Given the description of an element on the screen output the (x, y) to click on. 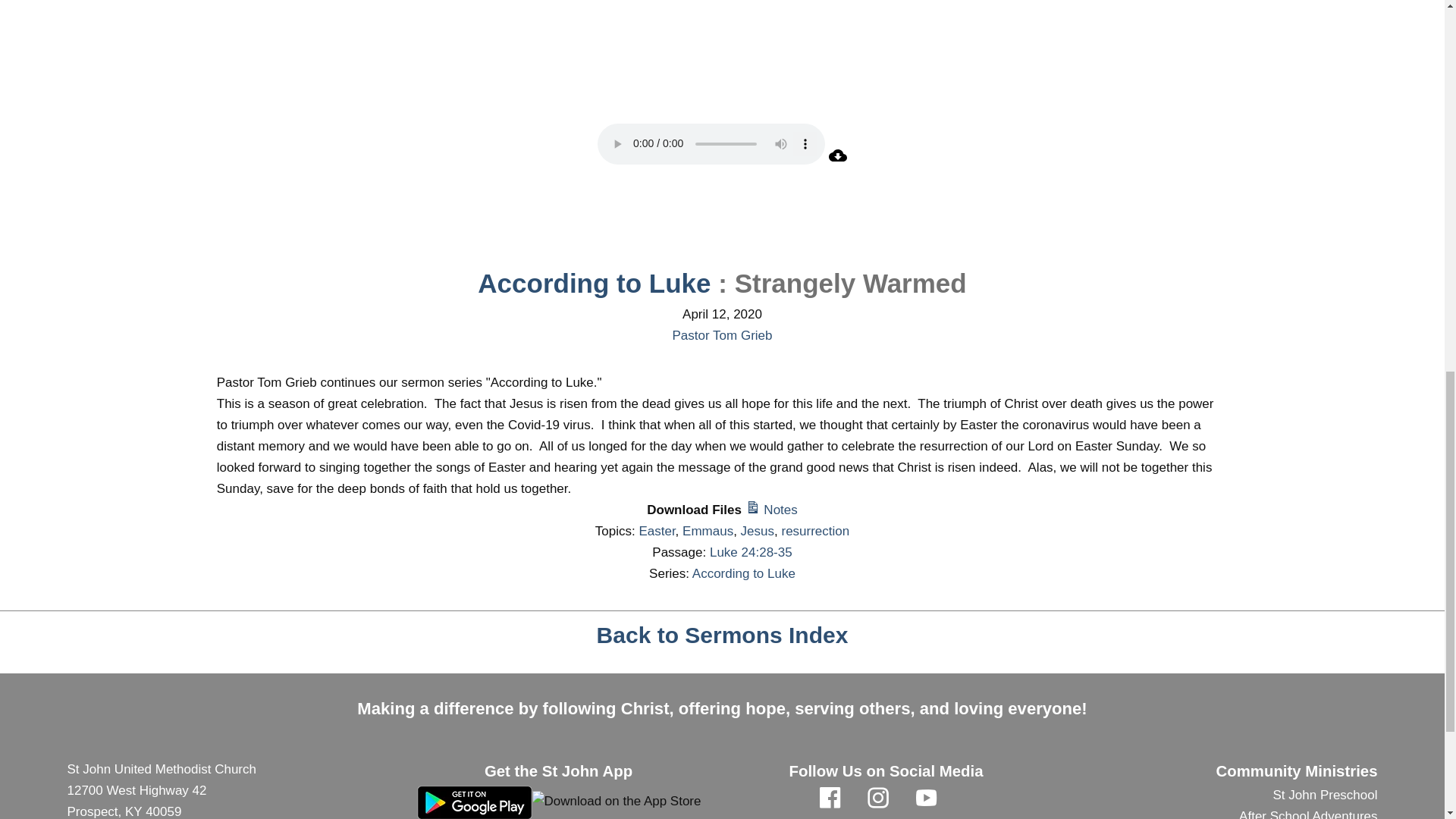
Download Audio File (837, 160)
